Given the description of an element on the screen output the (x, y) to click on. 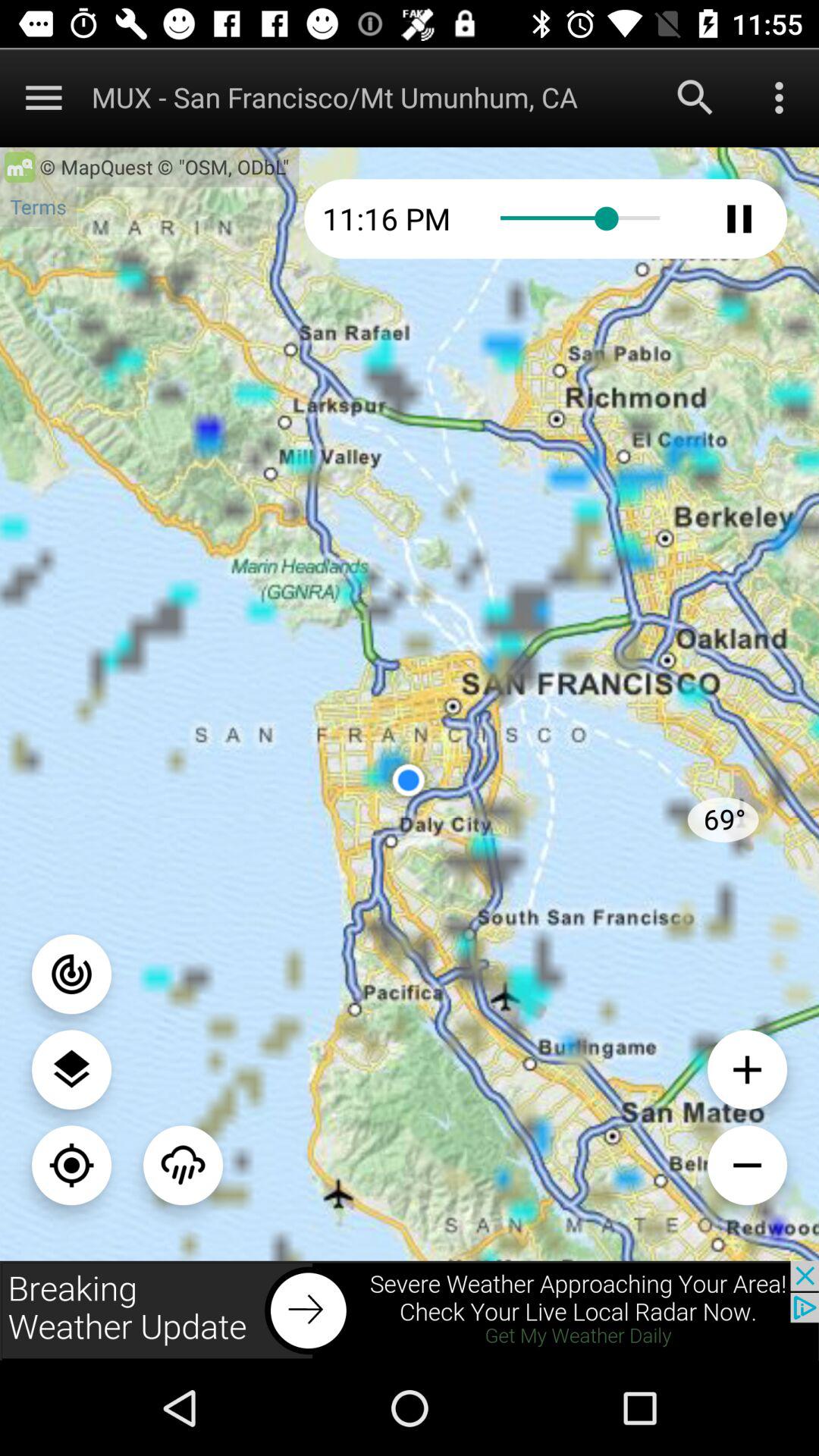
menu dropdown (779, 97)
